Given the description of an element on the screen output the (x, y) to click on. 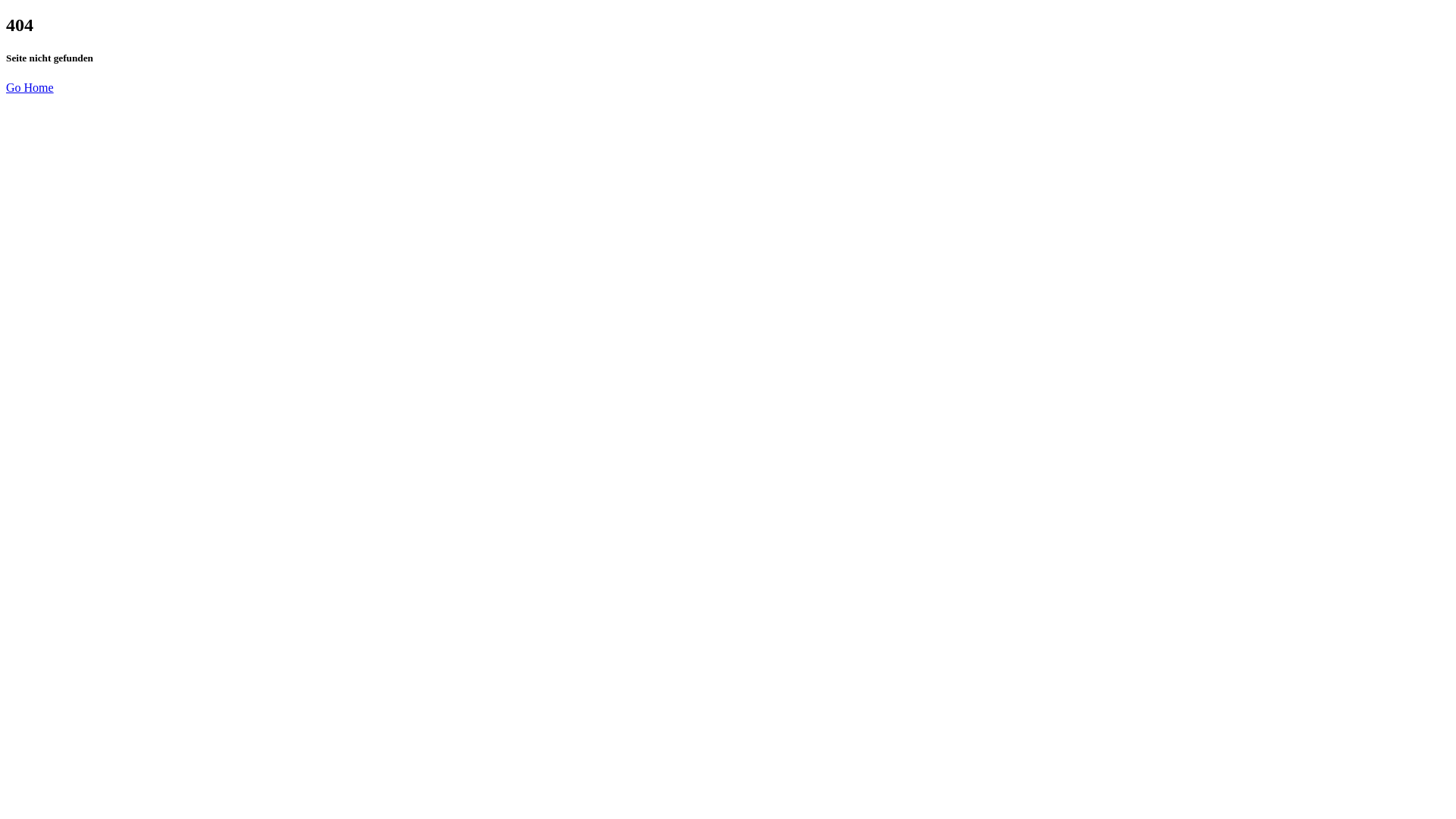
Go Home Element type: text (29, 87)
